Given the description of an element on the screen output the (x, y) to click on. 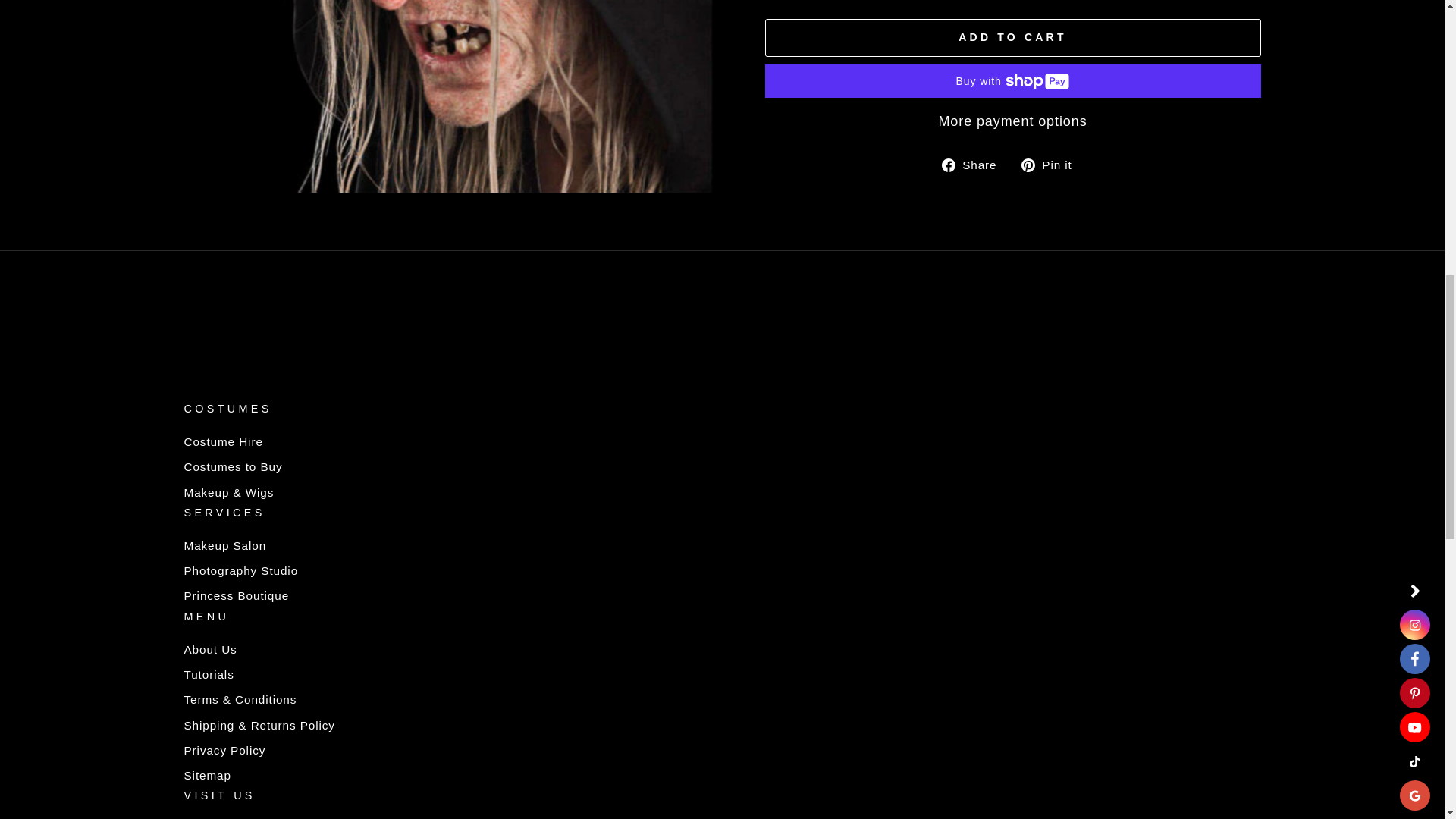
Share on Facebook (974, 164)
Pin on Pinterest (1052, 164)
